Given the description of an element on the screen output the (x, y) to click on. 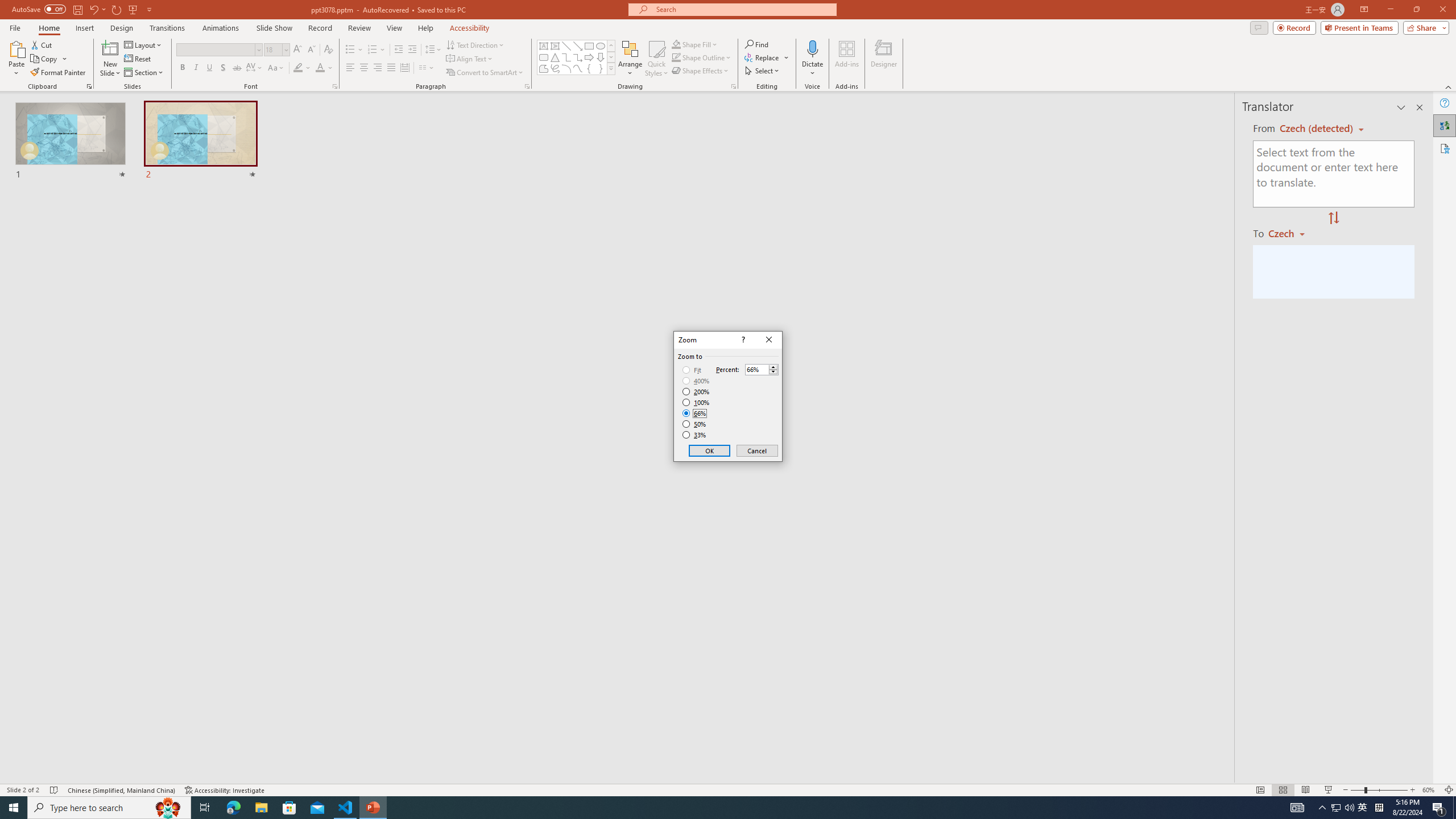
Percent (761, 369)
